Given the description of an element on the screen output the (x, y) to click on. 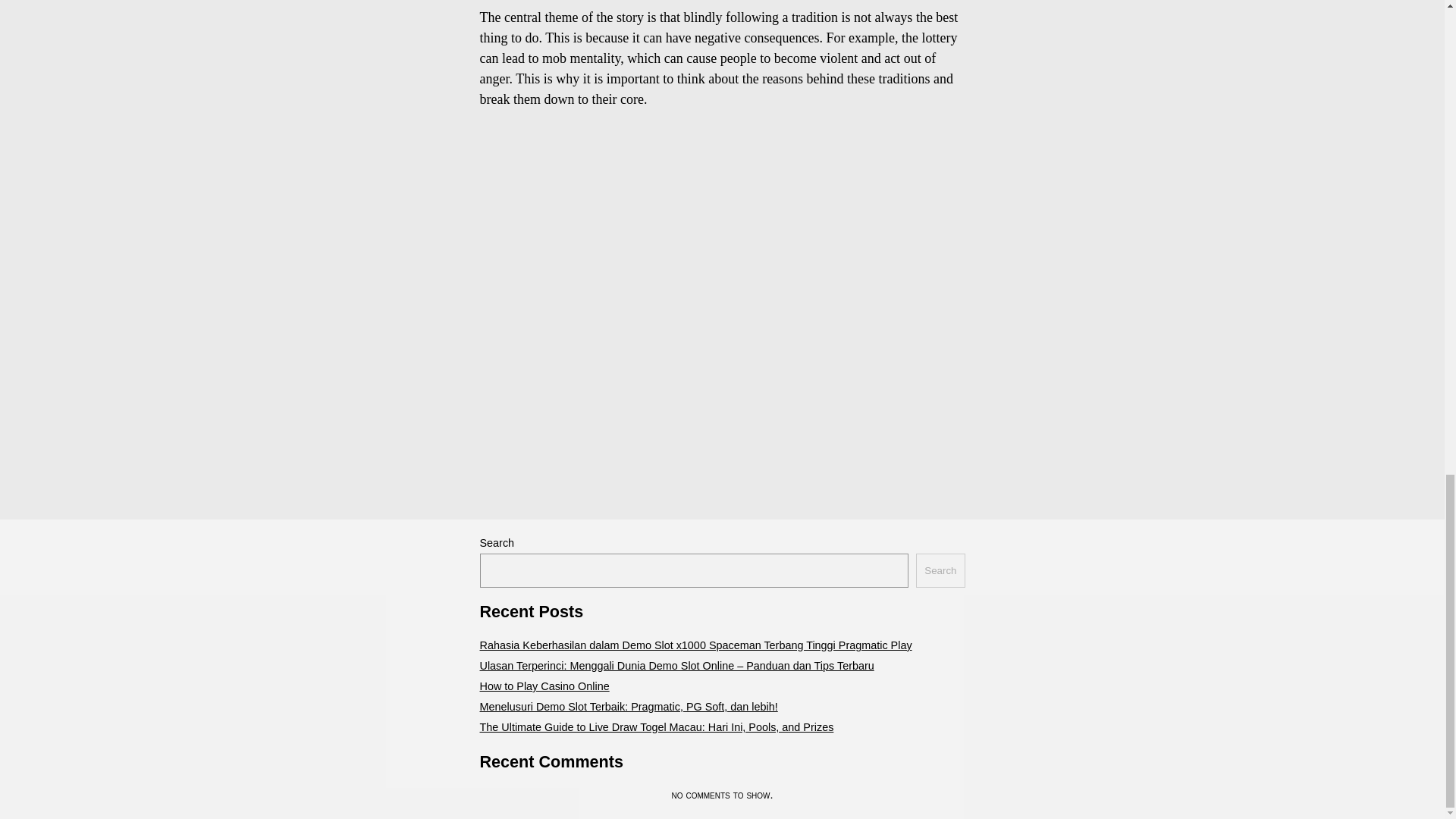
Menelusuri Demo Slot Terbaik: Pragmatic, PG Soft, dan lebih! (628, 706)
Search (939, 570)
How to Play Casino Online (543, 686)
